Given the description of an element on the screen output the (x, y) to click on. 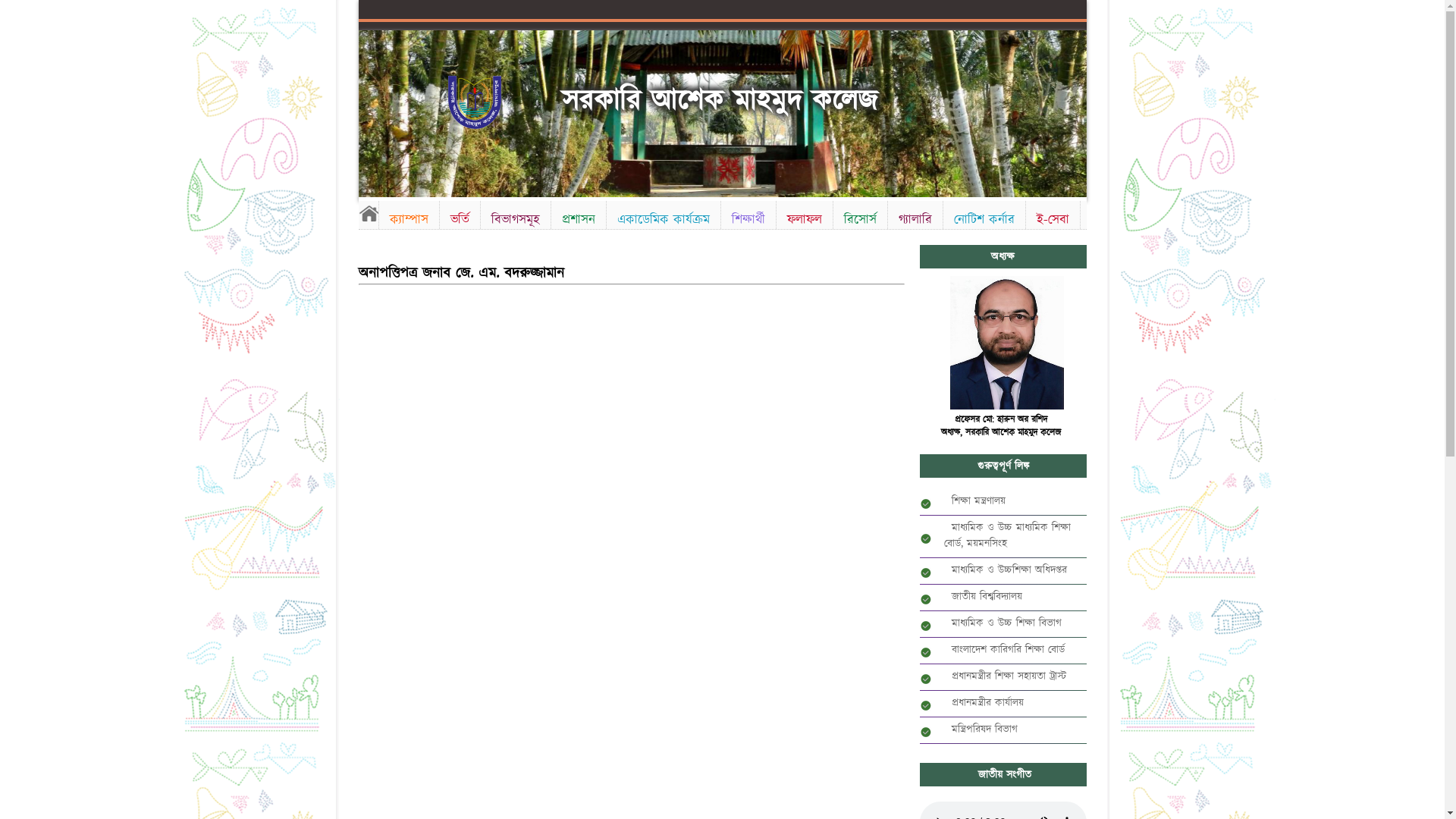
Next Element type: text (1071, 107)
Previous Element type: text (371, 107)
